Given the description of an element on the screen output the (x, y) to click on. 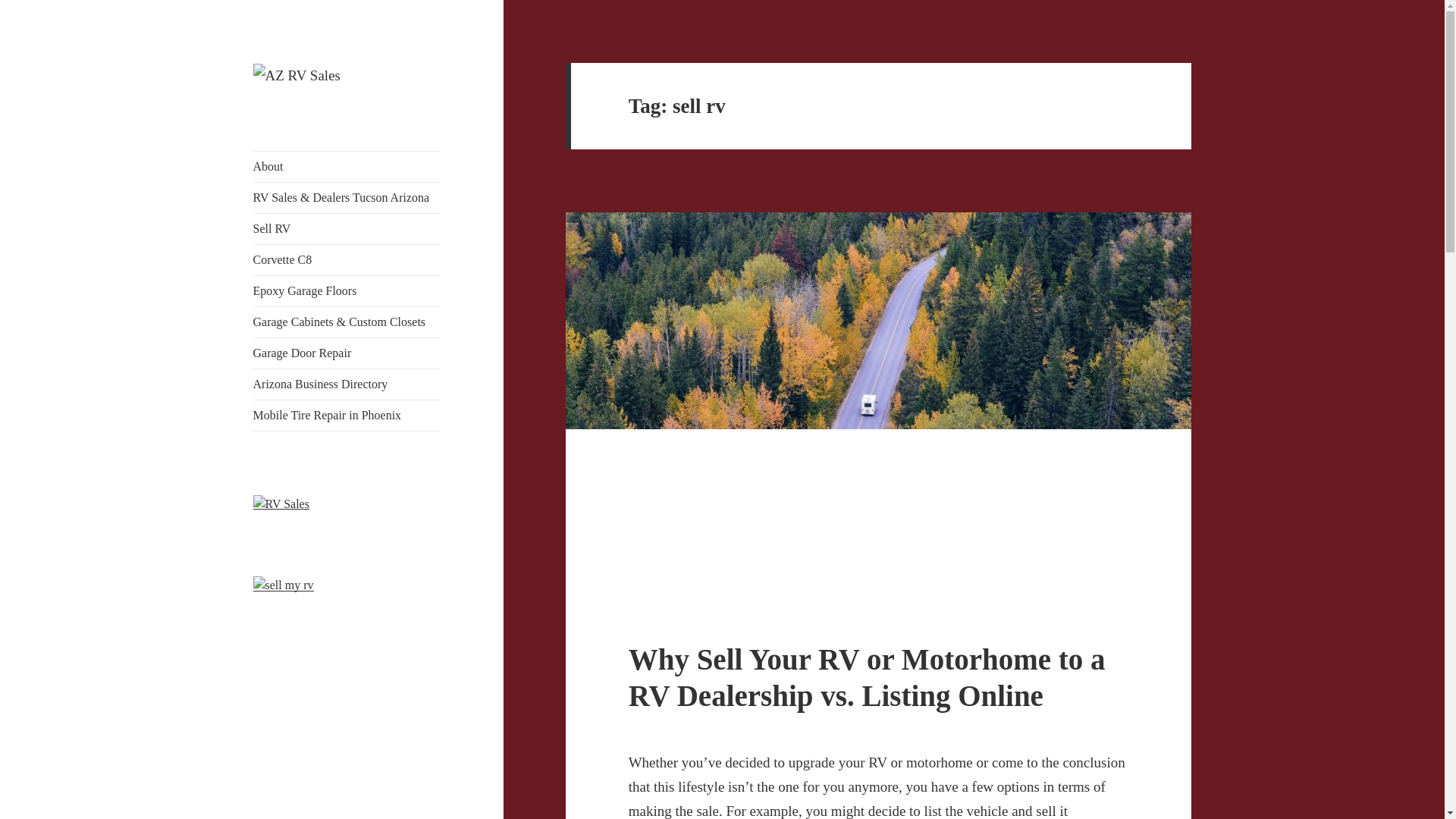
Corvette C8 (347, 259)
AZ RV Sales (313, 111)
Garage Door Repair (347, 353)
Arizona Business Directory (347, 384)
Epoxy Garage Floors (347, 291)
Sell RV (347, 228)
Mobile Tire Repair in Phoenix (347, 415)
About (347, 166)
